Given the description of an element on the screen output the (x, y) to click on. 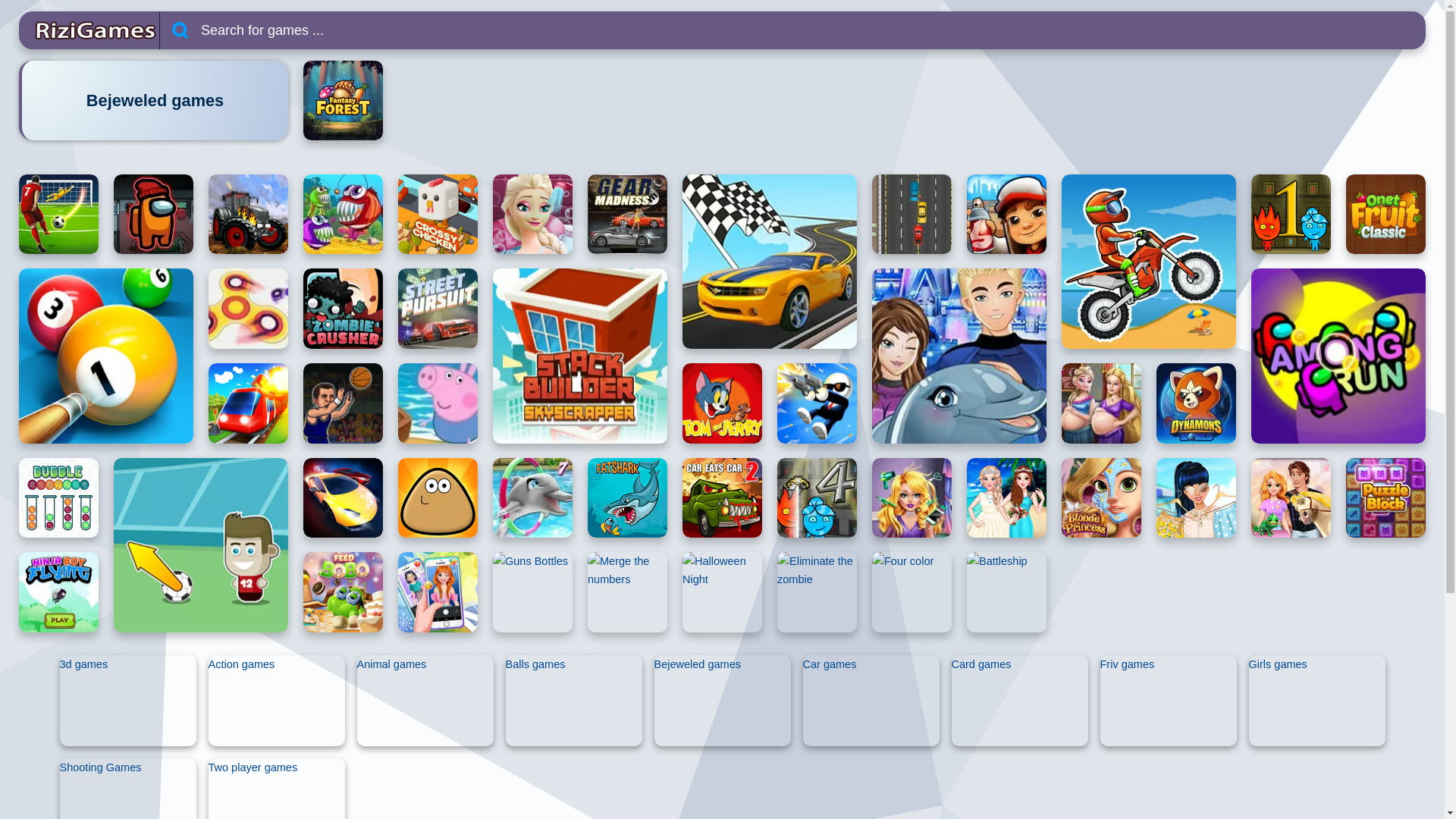
Tractor mania (248, 213)
Mad fish (342, 213)
Fantasy forest (342, 100)
Impostor (153, 213)
Penalty kick (58, 213)
Online games (88, 29)
